Given the description of an element on the screen output the (x, y) to click on. 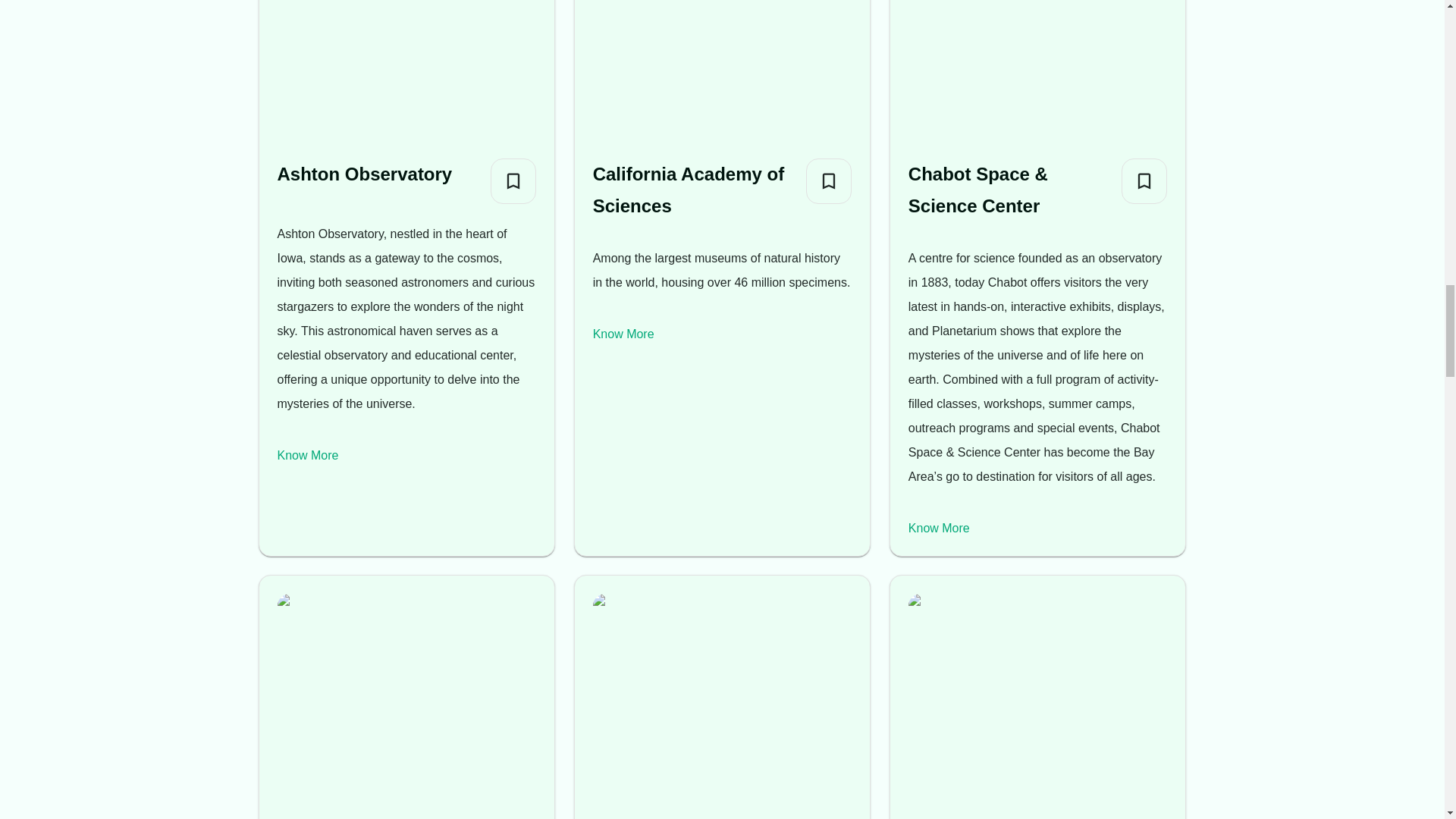
California Academy of Sciences (693, 189)
Add to Bucket List (1144, 180)
Know More (622, 333)
Add to Bucket List (512, 180)
Know More (308, 454)
Know More (938, 527)
Add to Bucket List (828, 180)
Ashton Observatory (365, 174)
